Given the description of an element on the screen output the (x, y) to click on. 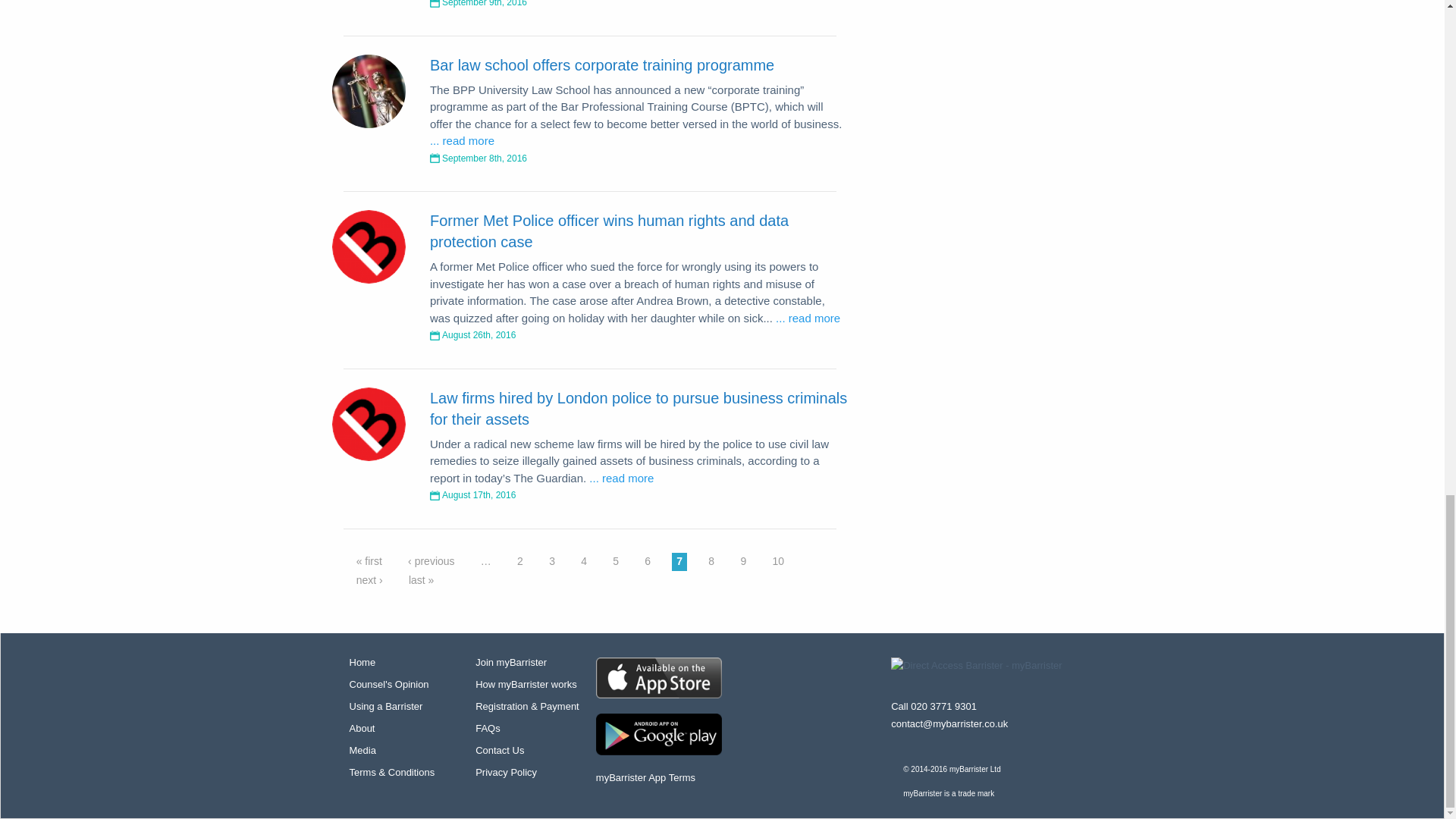
Go to previous page (431, 561)
Go to page 10 (778, 561)
Go to next page (369, 579)
Go to last page (421, 579)
Go to first page (369, 561)
